Given the description of an element on the screen output the (x, y) to click on. 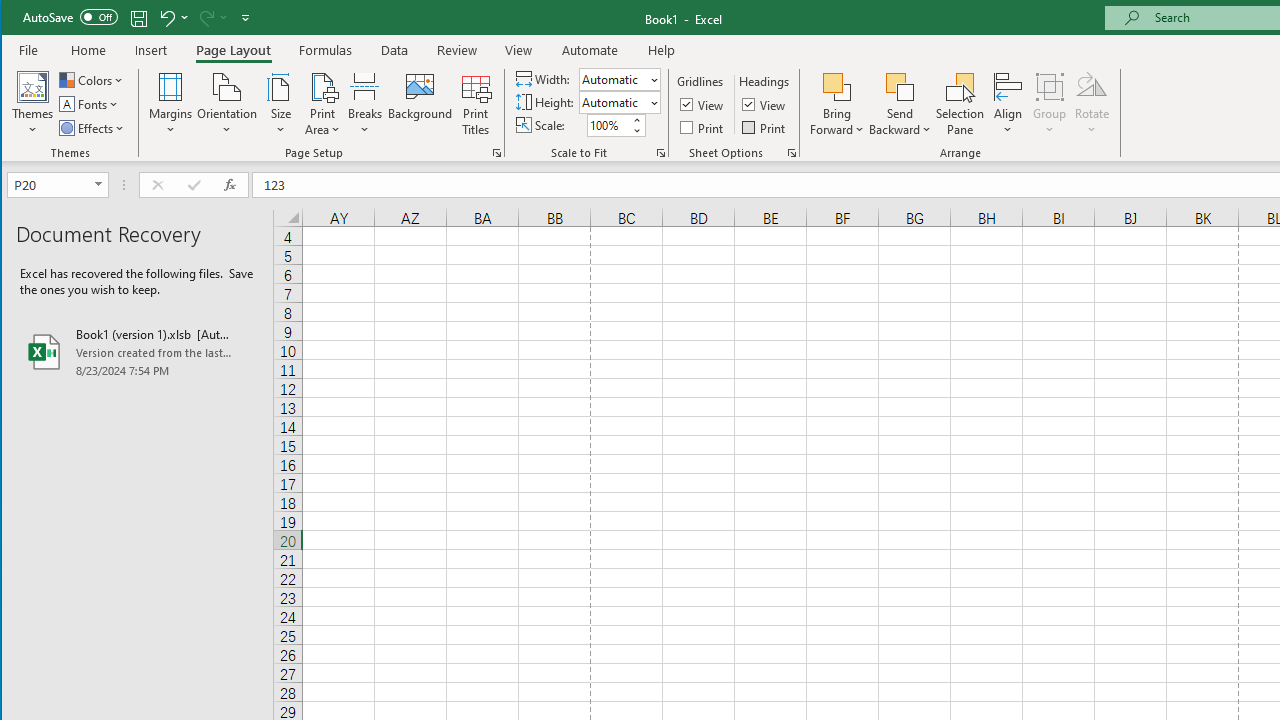
Bring Forward (836, 104)
Width (612, 79)
Print Area (323, 104)
Width (619, 78)
Print (765, 126)
Scale (607, 125)
Effects (93, 127)
Rotate (1092, 104)
Less (636, 130)
